Given the description of an element on the screen output the (x, y) to click on. 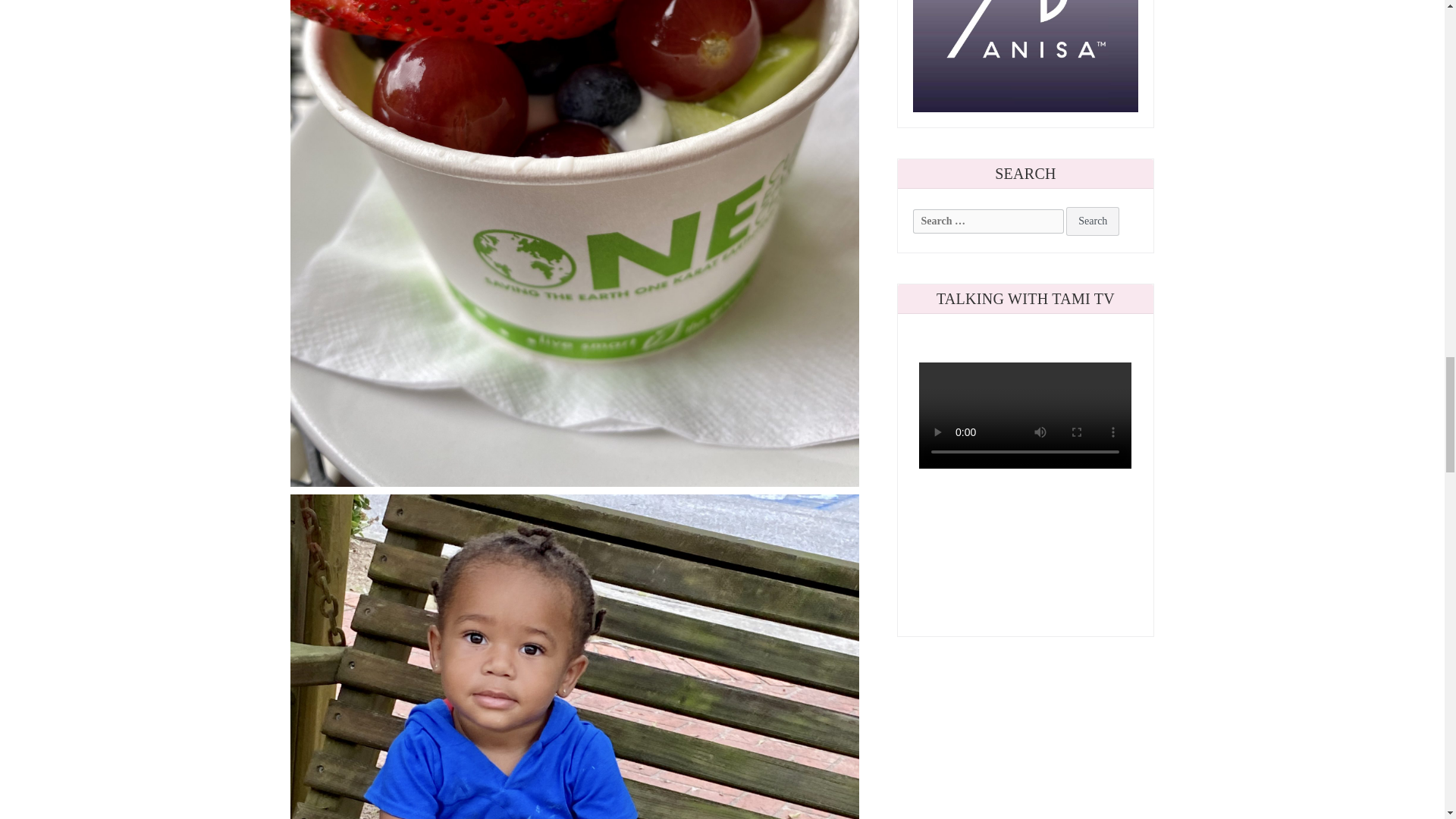
Search (1092, 221)
Search (1092, 221)
